Given the description of an element on the screen output the (x, y) to click on. 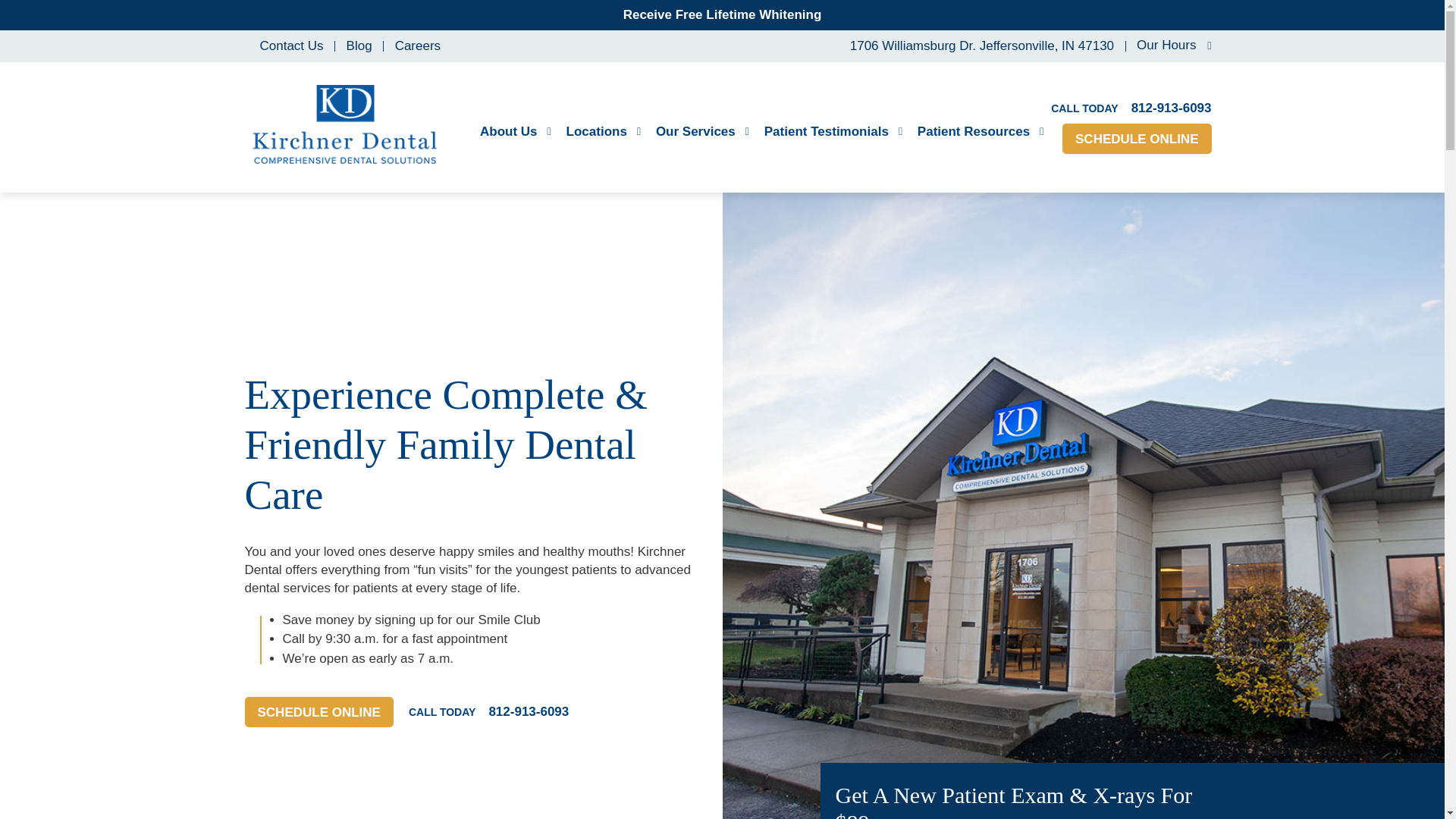
Contact Us (291, 45)
1706 Williamsburg Dr. Jeffersonville, IN 47130 (978, 45)
About Us (515, 131)
Blog (359, 45)
Locations (603, 131)
Receive Free Lifetime Whitening (722, 14)
Careers (417, 45)
